Given the description of an element on the screen output the (x, y) to click on. 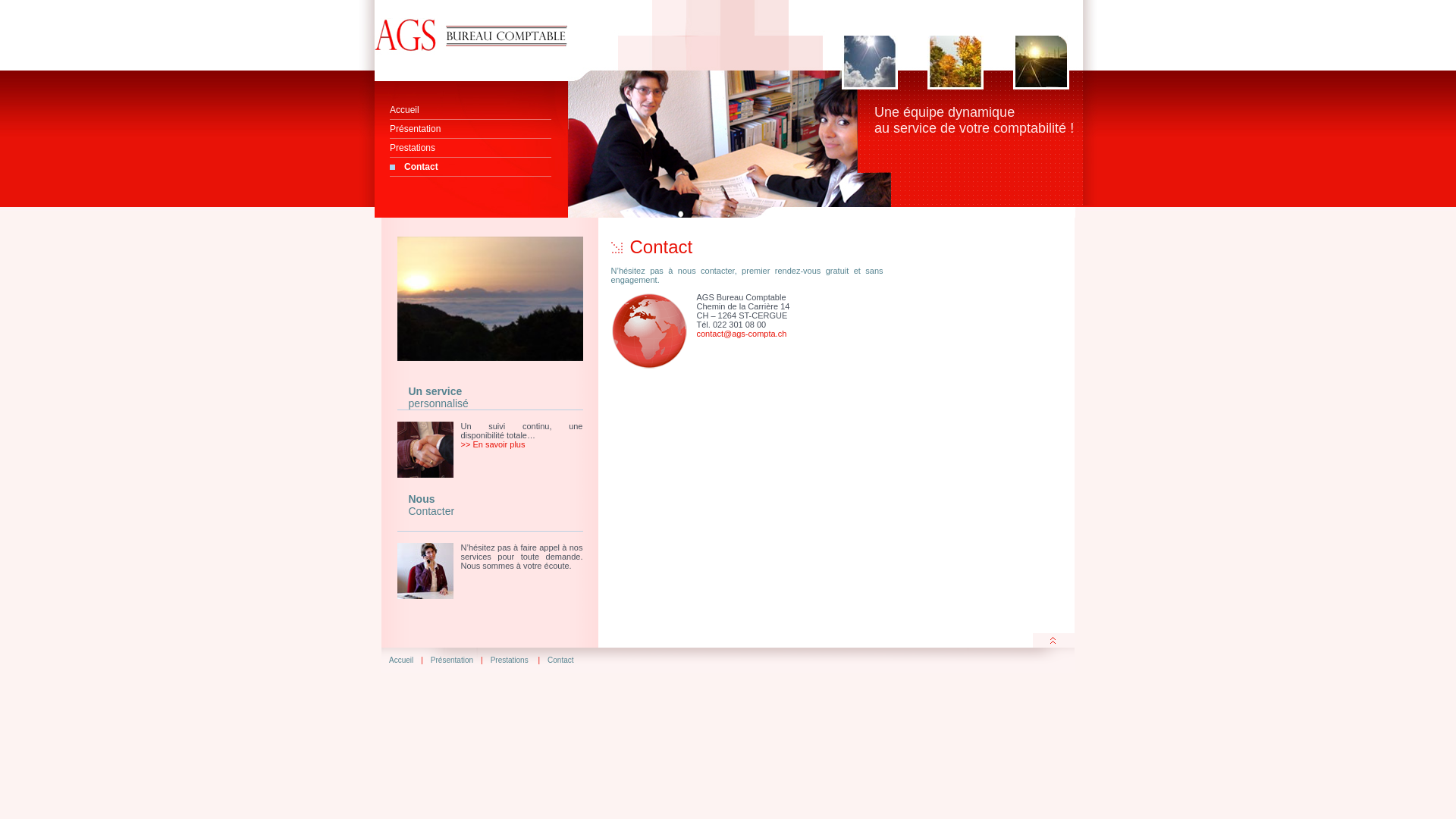
Contact Element type: text (470, 166)
Prestations Element type: text (470, 147)
Prestations Element type: text (510, 659)
>> En savoir plus Element type: text (493, 443)
Contact Element type: text (559, 659)
Accueil Element type: text (470, 109)
contact@ags-compta.ch Element type: text (741, 333)
Accueil Element type: text (400, 659)
